Given the description of an element on the screen output the (x, y) to click on. 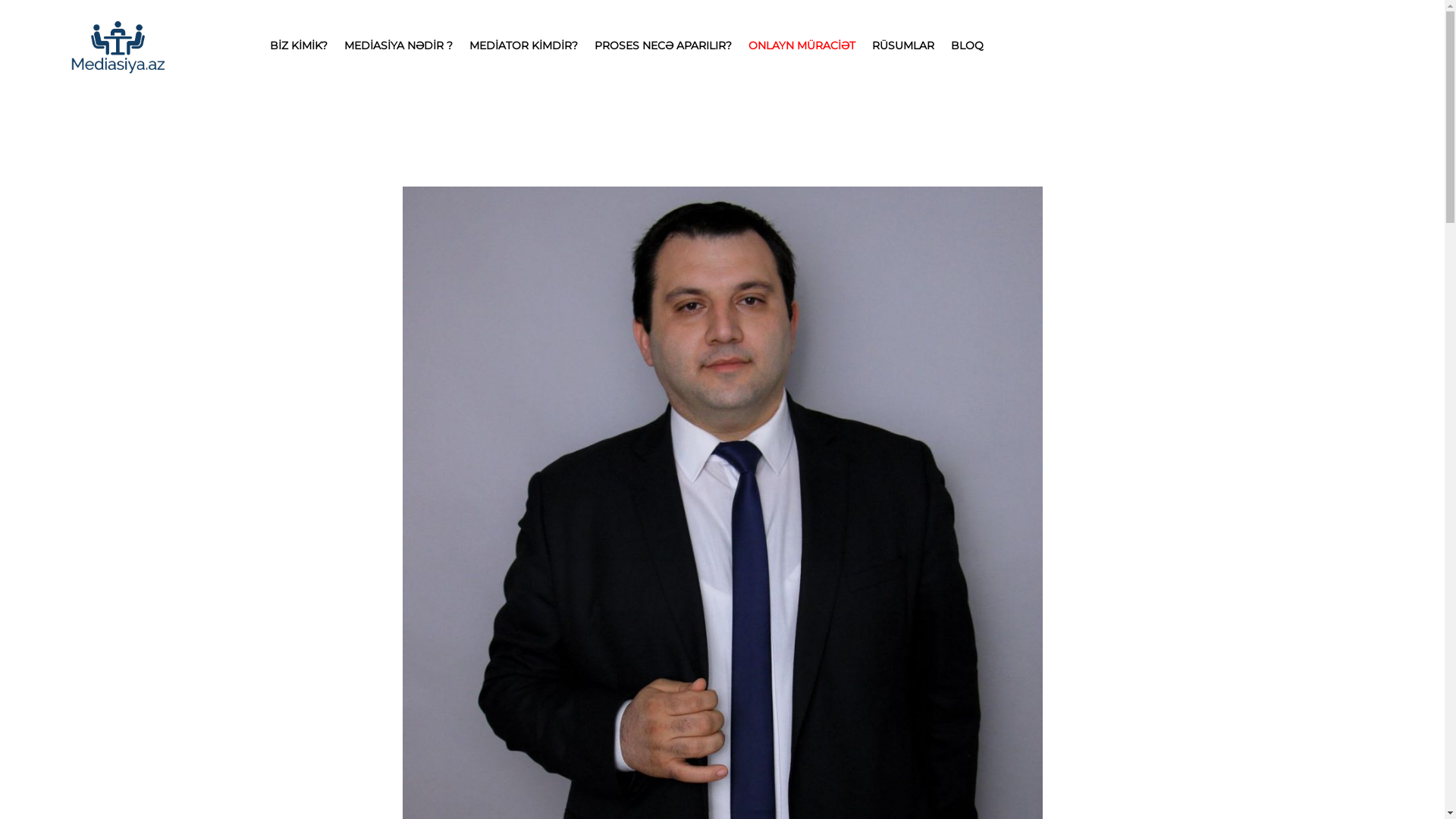
MEDIATOR KIMDIR? Element type: text (523, 45)
BIZ KIMIK? Element type: text (297, 45)
BLOQ Element type: text (966, 45)
